Given the description of an element on the screen output the (x, y) to click on. 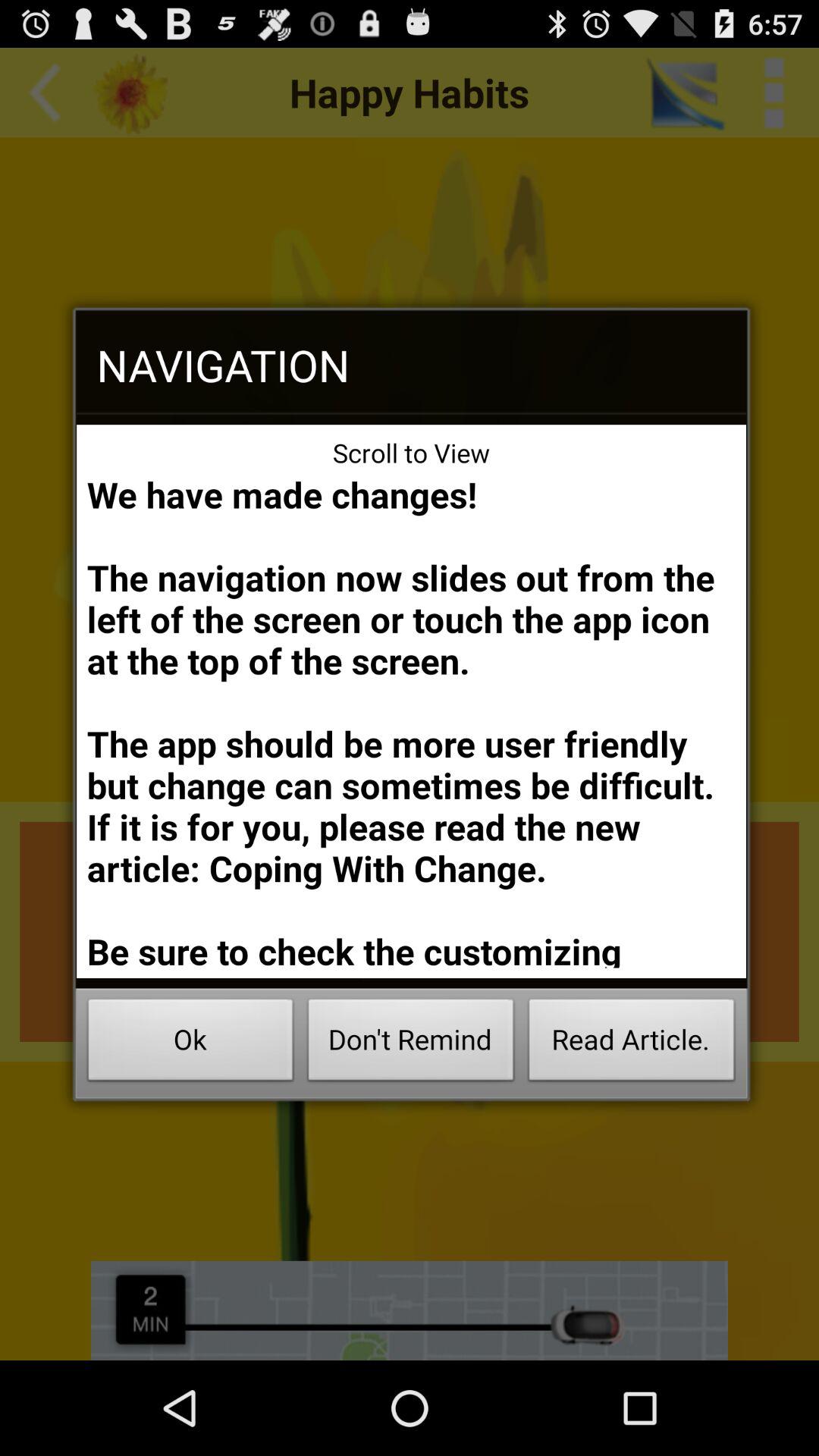
open the don't remind icon (410, 1044)
